Given the description of an element on the screen output the (x, y) to click on. 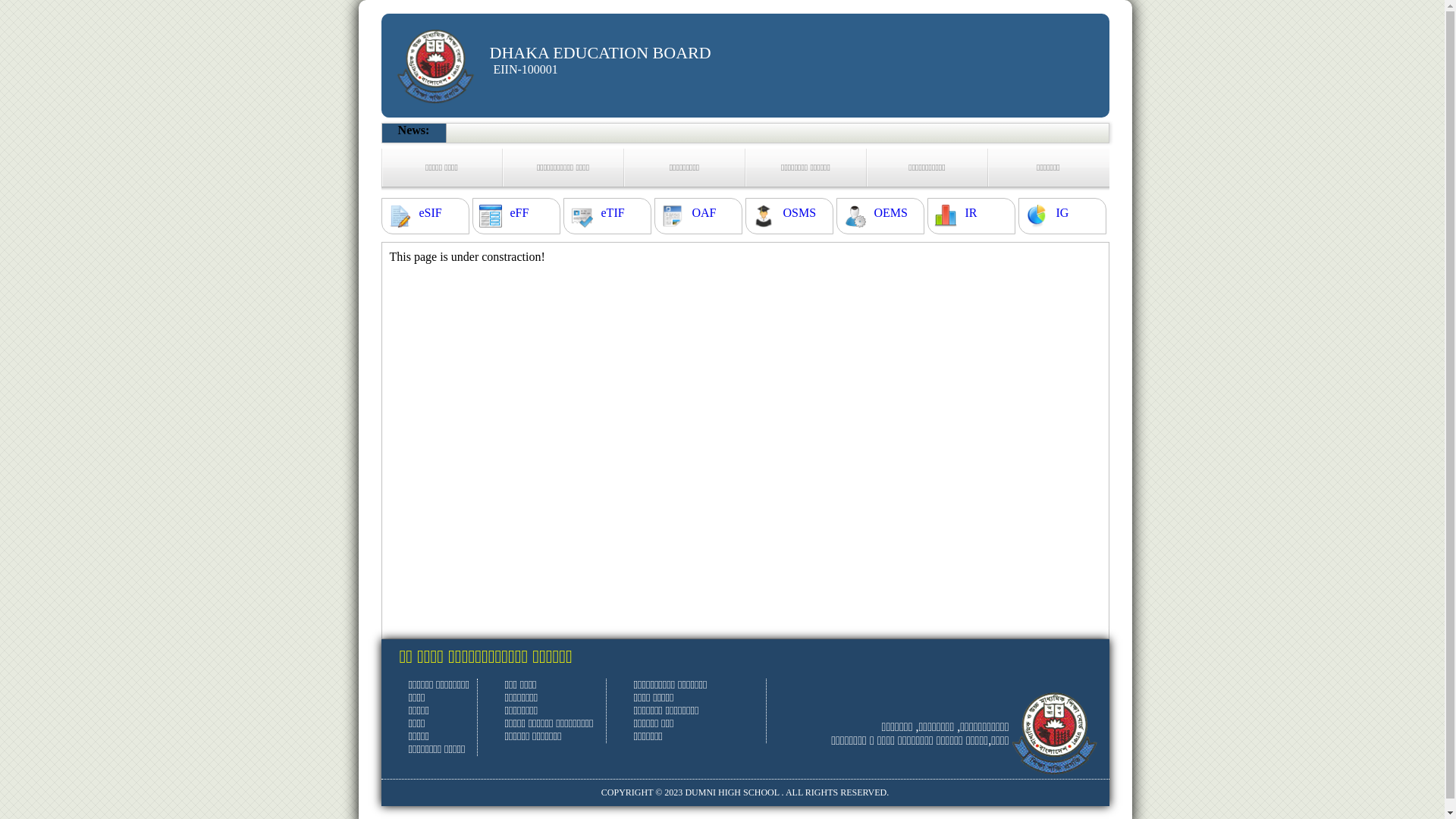
OSMS Element type: text (798, 212)
IR Element type: text (970, 212)
IG Element type: text (1061, 212)
DUMNI HIGH SCHOOL Element type: text (731, 792)
eSIF Element type: text (429, 212)
eTIF Element type: text (612, 212)
OEMS Element type: text (889, 212)
eFF Element type: text (518, 212)
OAF Element type: text (703, 212)
